Given the description of an element on the screen output the (x, y) to click on. 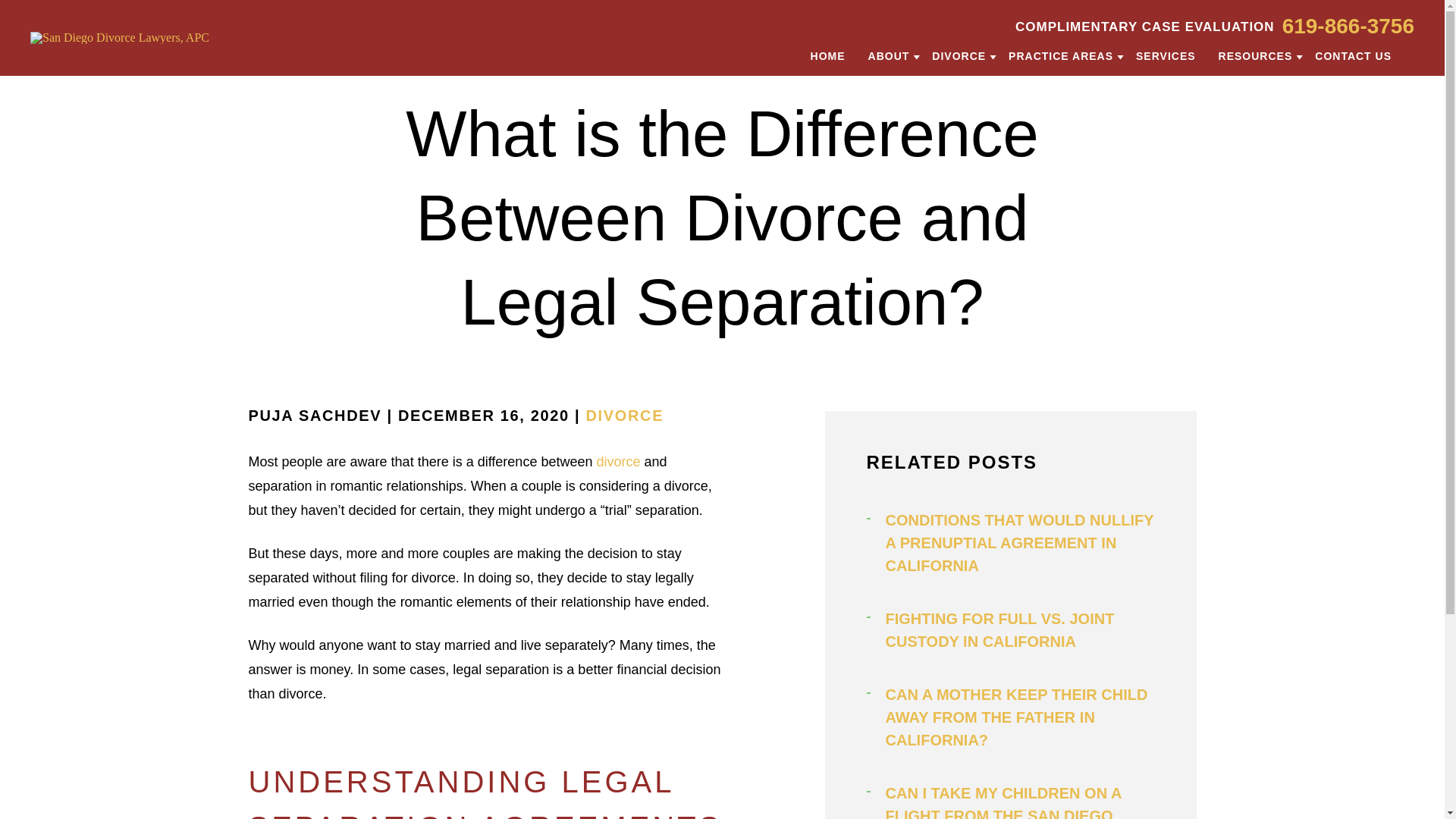
RESOURCES (1255, 54)
CONTACT US (1352, 54)
divorce (617, 461)
ABOUT (888, 54)
DIVORCE (958, 54)
PRACTICE AREAS (1061, 54)
619-866-3756 (1347, 25)
HOME (827, 54)
DIVORCE (624, 415)
SERVICES (1165, 54)
